Given the description of an element on the screen output the (x, y) to click on. 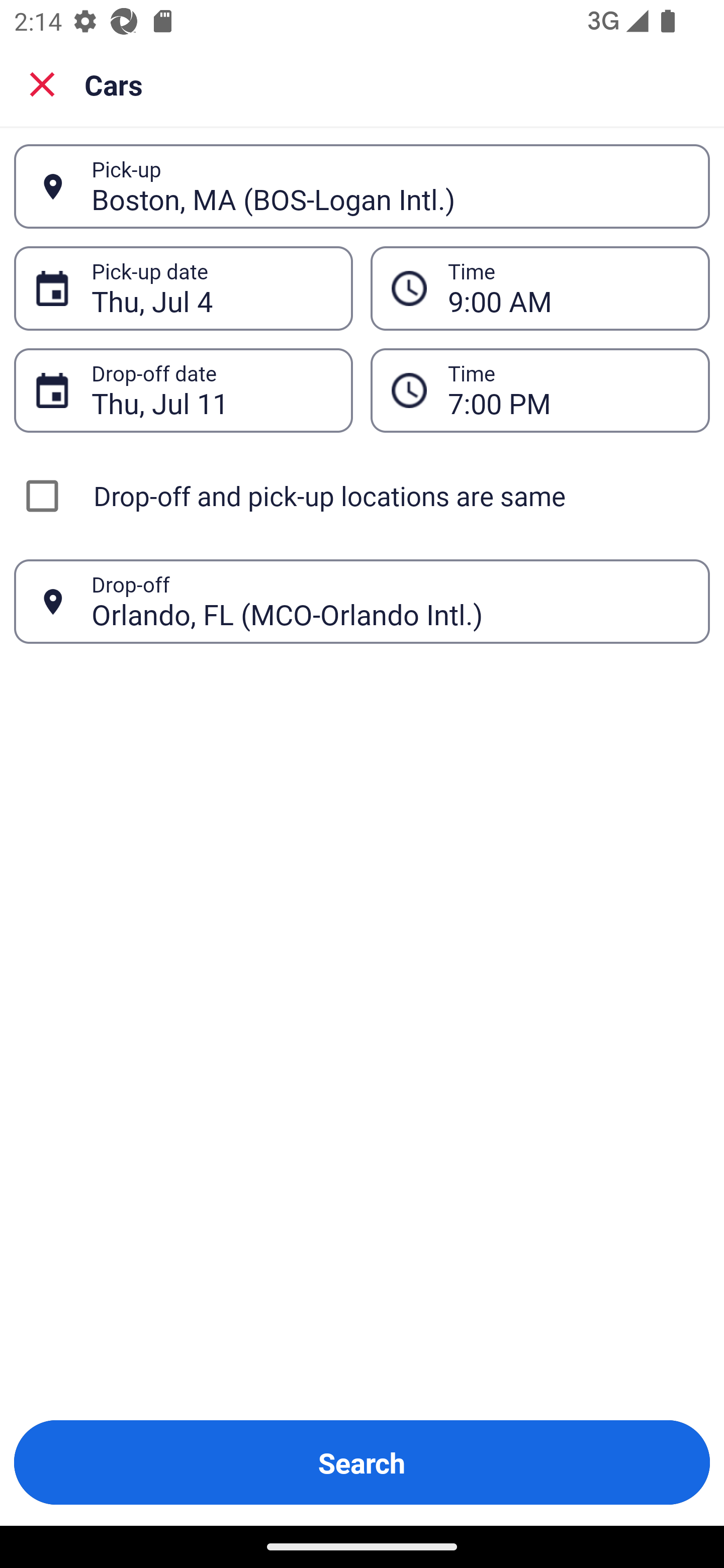
Close search screen (41, 83)
Boston, MA (BOS-Logan Intl.) Pick-up (361, 186)
Boston, MA (BOS-Logan Intl.) (389, 186)
Thu, Jul 4 Pick-up date (183, 288)
9:00 AM (540, 288)
Thu, Jul 4 (211, 288)
9:00 AM (568, 288)
Thu, Jul 11 Drop-off date (183, 390)
7:00 PM (540, 390)
Thu, Jul 11 (211, 390)
7:00 PM (568, 390)
Drop-off and pick-up locations are same (361, 495)
Orlando, FL (MCO-Orlando Intl.) Drop-off (361, 601)
Orlando, FL (MCO-Orlando Intl.) (389, 601)
Search Button Search (361, 1462)
